Given the description of an element on the screen output the (x, y) to click on. 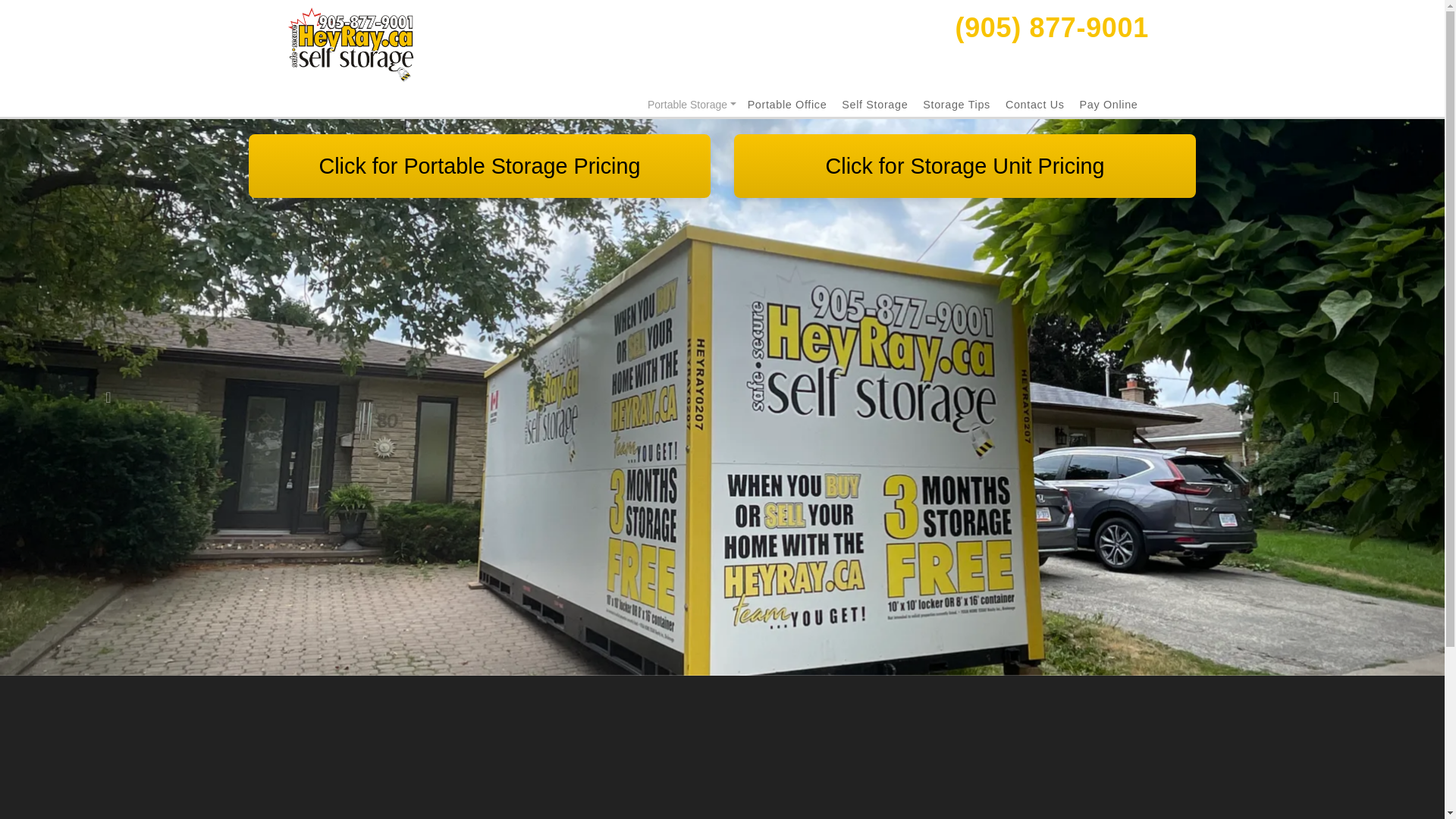
Self Storage (874, 104)
Pay Online (1109, 104)
Contact Us (1035, 104)
Click for Storage Unit Pricing (964, 166)
HRSS-MuleDelivery-APR7.mp4 (499, 789)
Portable Office (787, 104)
Portable Storage (691, 105)
Storage Tips (956, 104)
Click for Portable Storage Pricing (479, 166)
HeyRay Logo (350, 45)
